Given the description of an element on the screen output the (x, y) to click on. 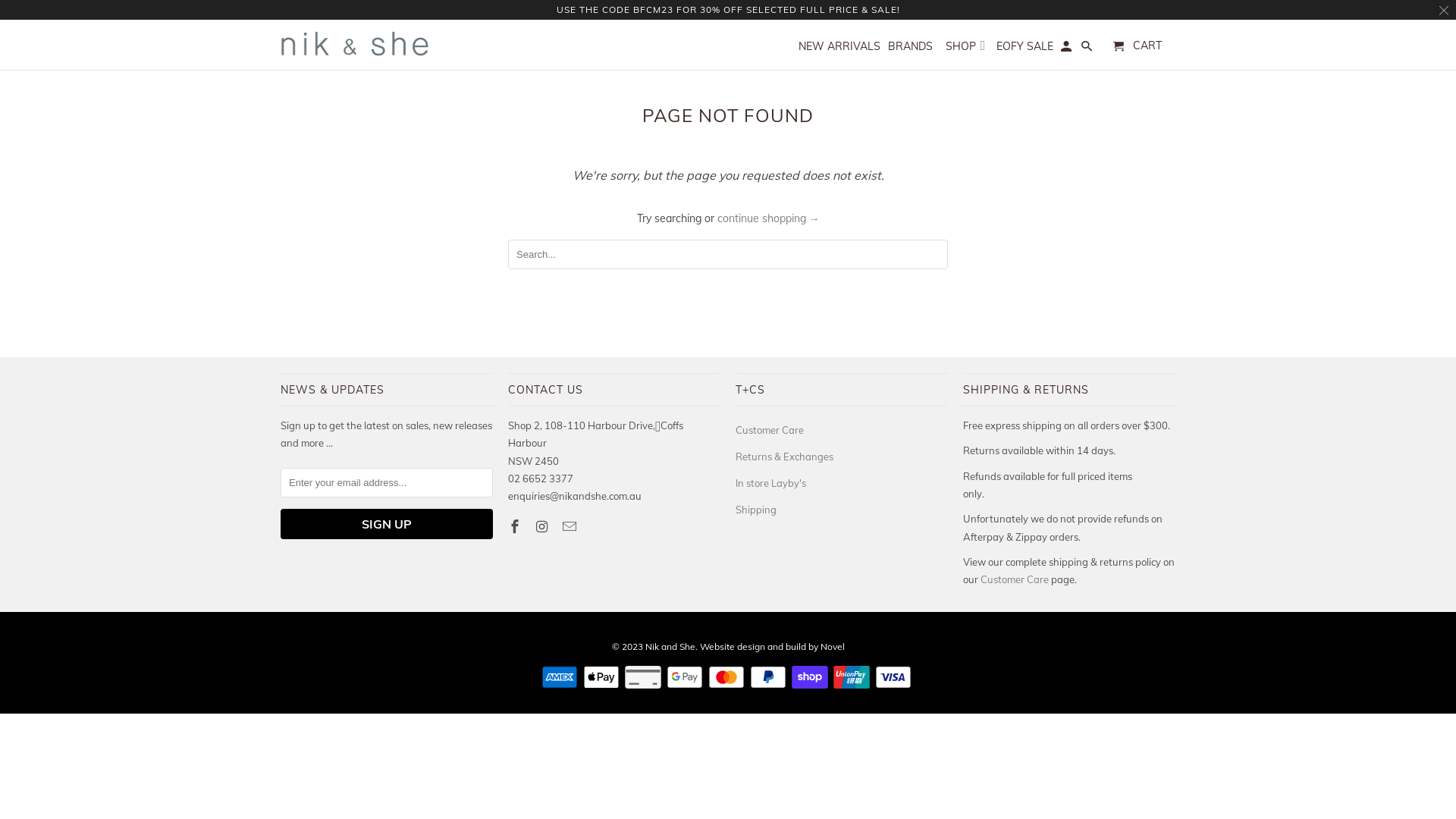
CART Element type: text (1137, 46)
Email Nik and She Element type: hover (570, 526)
BRANDS Element type: text (910, 49)
Customer Care Element type: text (1014, 579)
Nik and She on Facebook Element type: hover (516, 526)
USE THE CODE BFCM23 FOR 30% OFF SELECTED FULL PRICE & SALE! Element type: text (728, 9)
Nik and She Element type: text (669, 646)
Nik and She Element type: hover (356, 43)
NEW ARRIVALS Element type: text (839, 49)
My Account  Element type: hover (1066, 49)
Customer Care Element type: text (769, 429)
Shipping Element type: text (755, 509)
Website design and build by Novel Element type: text (771, 646)
In store Layby's Element type: text (770, 482)
Nik and She on Instagram Element type: hover (543, 526)
EOFY SALE Element type: text (1024, 49)
Returns & Exchanges Element type: text (784, 456)
Search Element type: hover (1087, 49)
Sign Up Element type: text (386, 523)
